Given the description of an element on the screen output the (x, y) to click on. 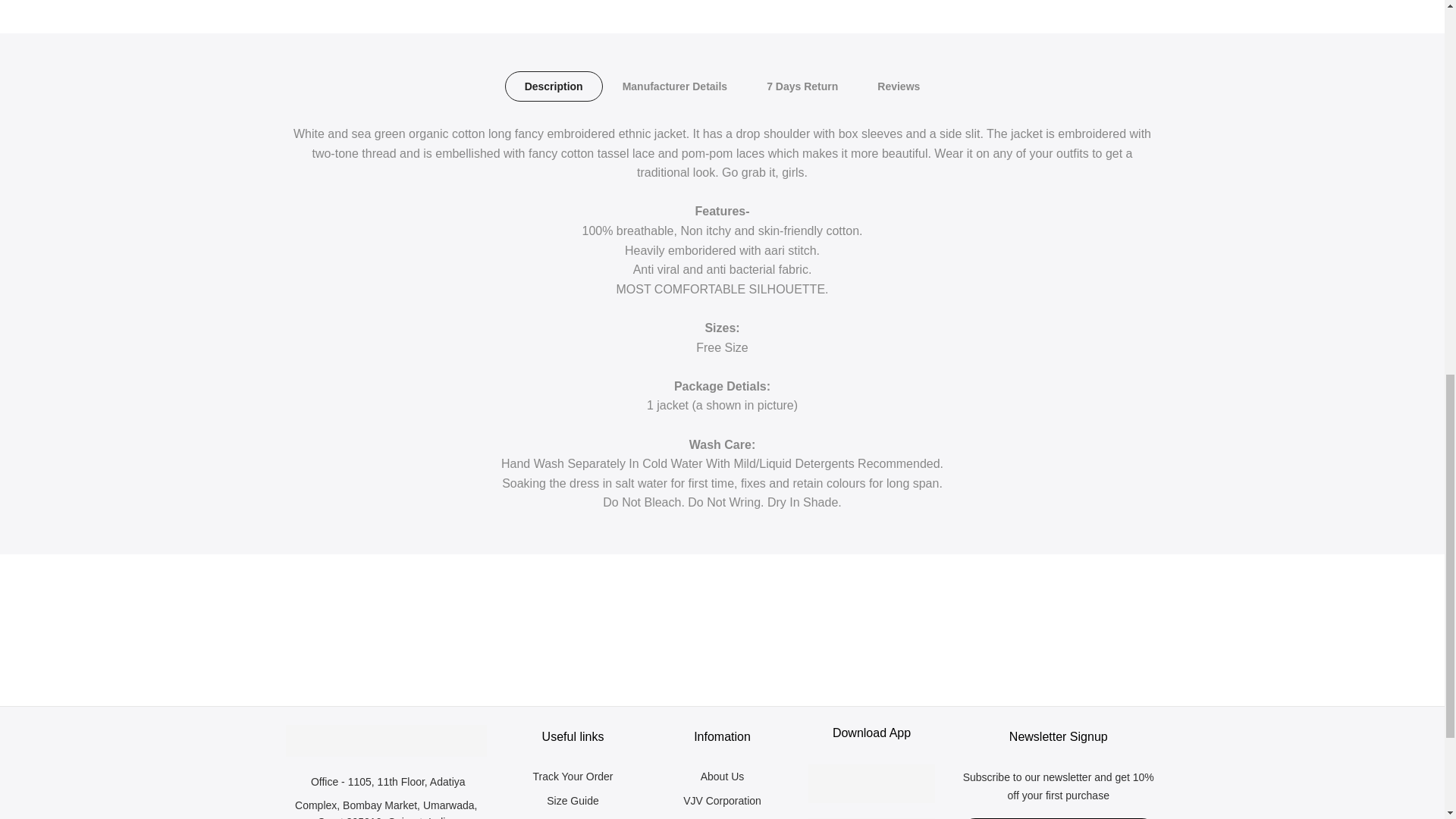
Description (553, 86)
7 Days Return (801, 86)
Reviews (898, 86)
Manufacturer Details (674, 86)
